Given the description of an element on the screen output the (x, y) to click on. 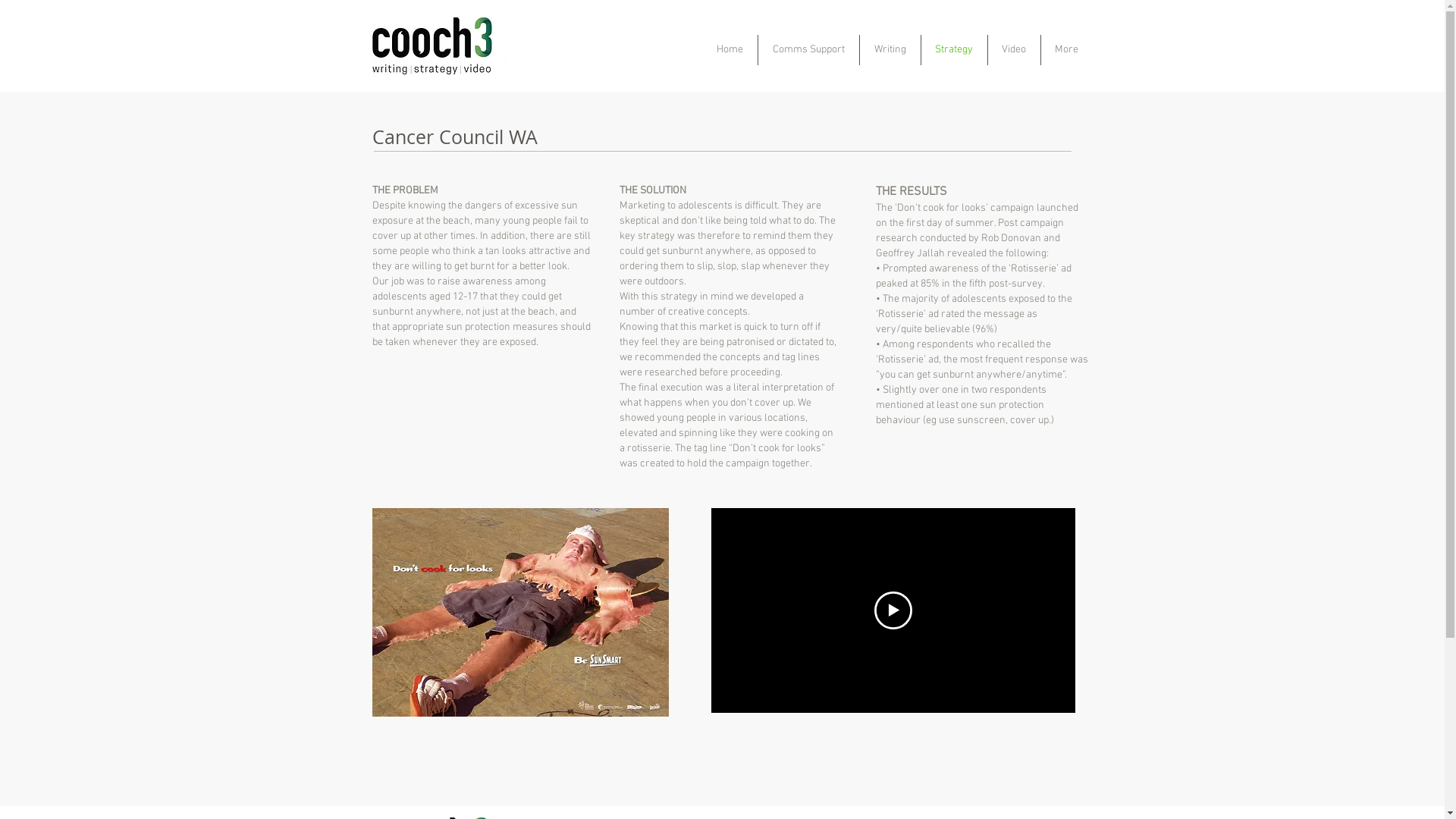
Video Element type: text (1013, 49)
Strategy Element type: text (953, 49)
Writing Element type: text (889, 49)
Home Element type: text (729, 49)
Comms Support Element type: text (808, 49)
